Given the description of an element on the screen output the (x, y) to click on. 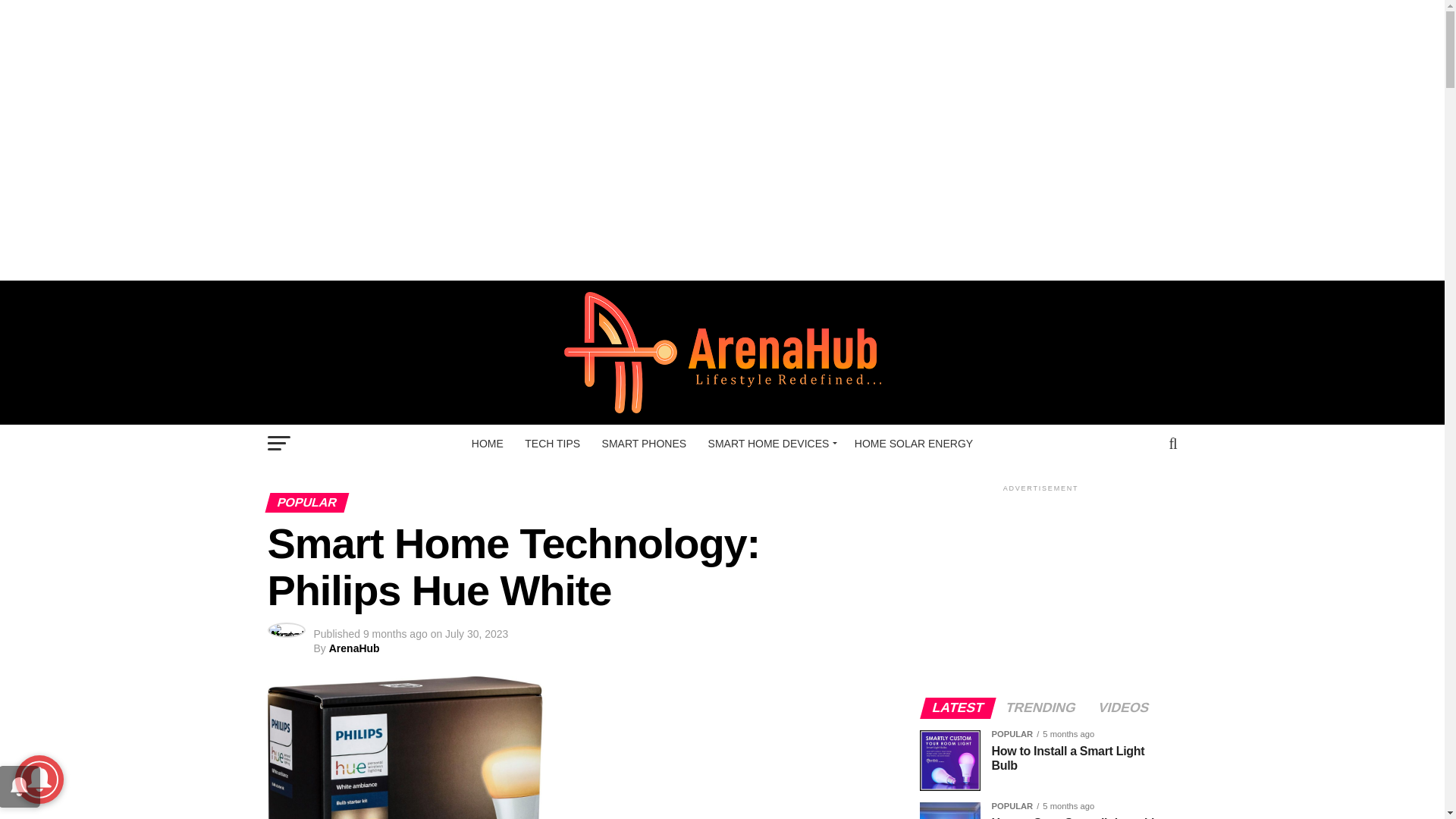
SMART HOME DEVICES (770, 443)
SMART PHONES (643, 443)
Advertisement (721, 33)
HOME (487, 443)
TECH TIPS (552, 443)
